Given the description of an element on the screen output the (x, y) to click on. 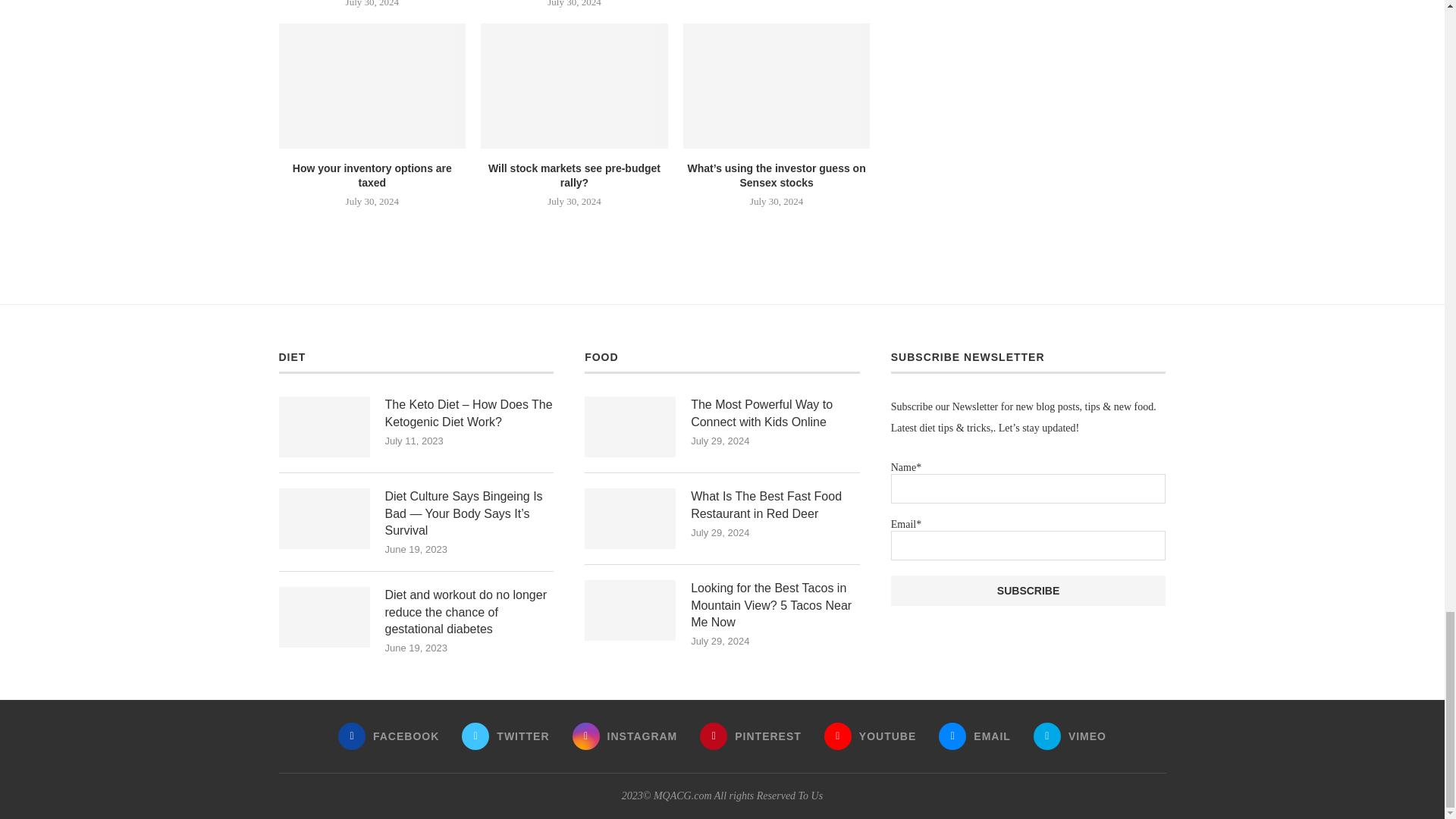
Will stock markets see pre-budget rally? (574, 85)
Subscribe (1028, 590)
How your inventory options are taxed (372, 85)
